Given the description of an element on the screen output the (x, y) to click on. 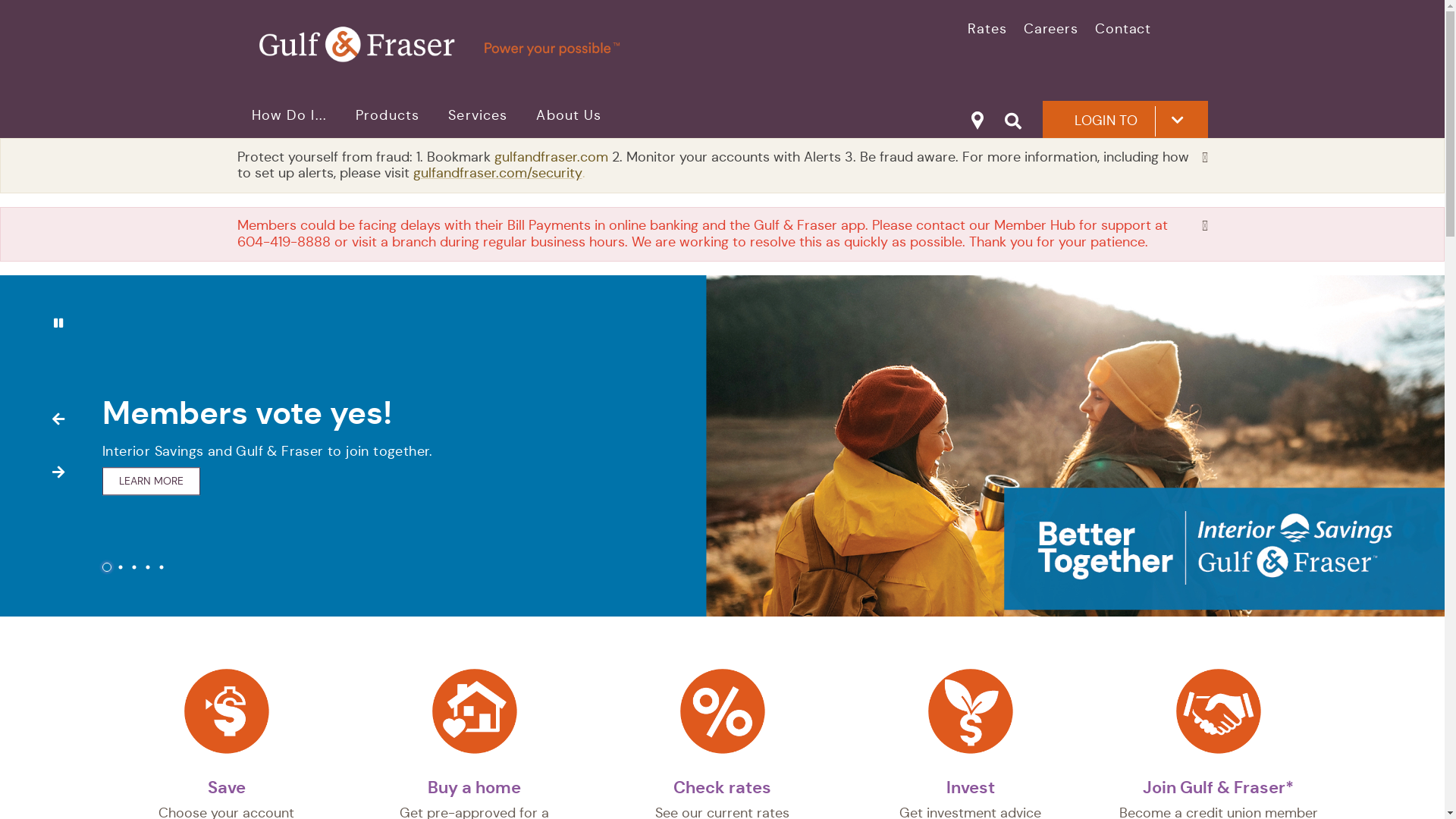
Contact Element type: text (1123, 28)
Check rates Element type: text (722, 787)
1 Element type: text (106, 566)
LEARN MORE Element type: text (151, 506)
Join Gulf & Fraser* Element type: text (1217, 787)
MoneyGrow.svg Element type: hover (970, 710)
Rates Element type: text (987, 28)
primary logotagline.svg Element type: hover (437, 43)
Buy a home Element type: text (473, 787)
5 Element type: text (161, 566)
DollarFill.svg Element type: hover (225, 710)
Dismiss Element type: hover (1204, 157)
LOGIN TO Element type: text (1125, 119)
Save Element type: text (226, 787)
Dismiss Element type: hover (1204, 226)
Invest Element type: text (970, 787)
Percent2.svg Element type: hover (721, 710)
Next Element type: hover (57, 472)
gulfandfraser.com/security Element type: text (496, 172)
Previous Element type: hover (57, 419)
2 Element type: text (120, 566)
3 Element type: text (133, 566)
Careers Element type: text (1050, 28)
Home.svg Element type: hover (474, 710)
4 Element type: text (147, 566)
Become a member of Gulf & Fraser Element type: hover (1217, 710)
gulfandfraser.com Element type: text (552, 156)
primary logotagline.svg Element type: hover (511, 43)
Pause slides Element type: hover (57, 322)
